Given the description of an element on the screen output the (x, y) to click on. 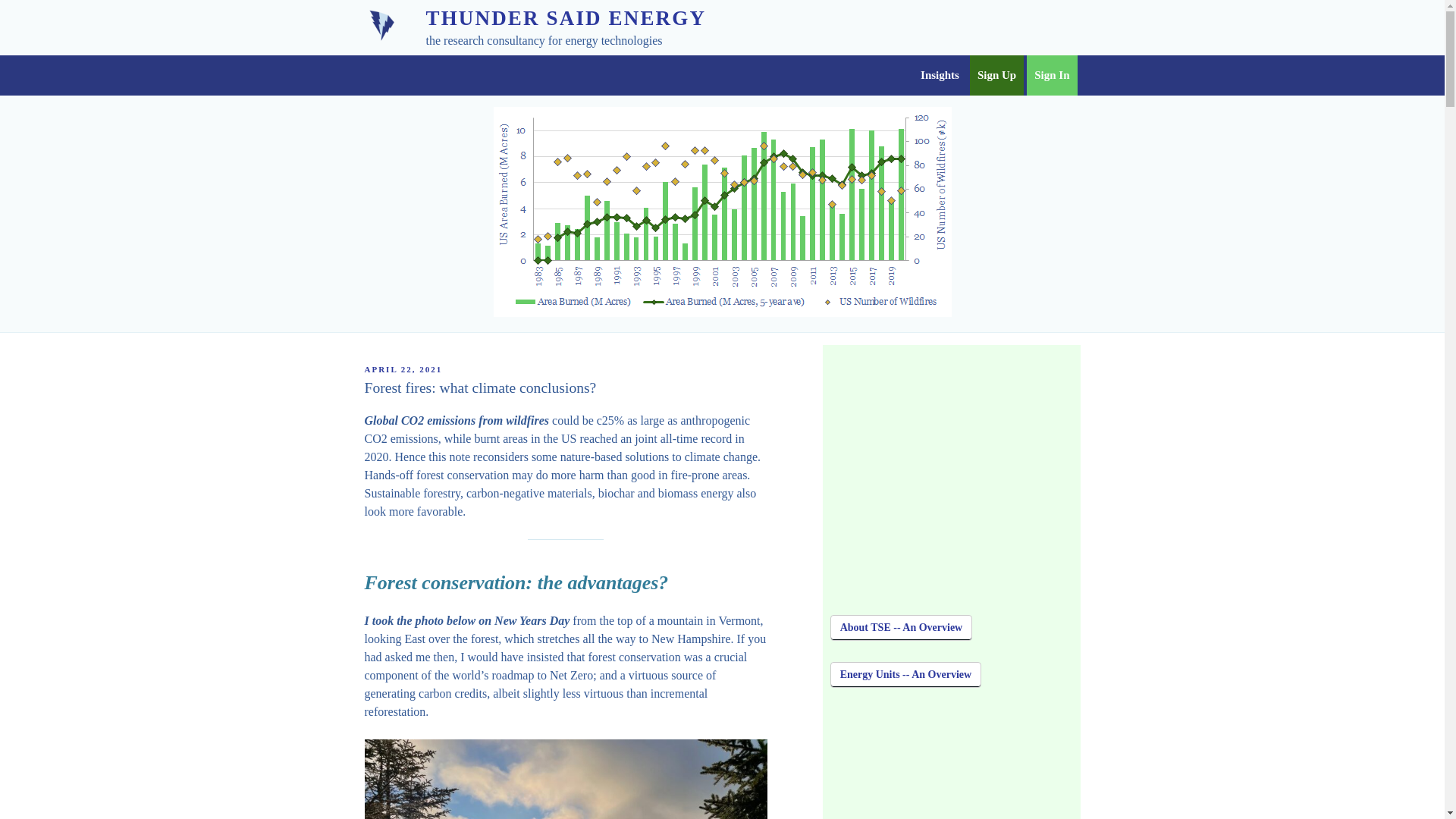
About TSE -- An Overview (900, 627)
APRIL 22, 2021 (403, 368)
Energy Transition: Top Five Reflections after 3.5 Years (951, 764)
Sign Up (996, 75)
Energy Units -- An Overview (905, 674)
THUNDER SAID ENERGY (566, 17)
Insights (939, 75)
Sign In (1051, 75)
